Given the description of an element on the screen output the (x, y) to click on. 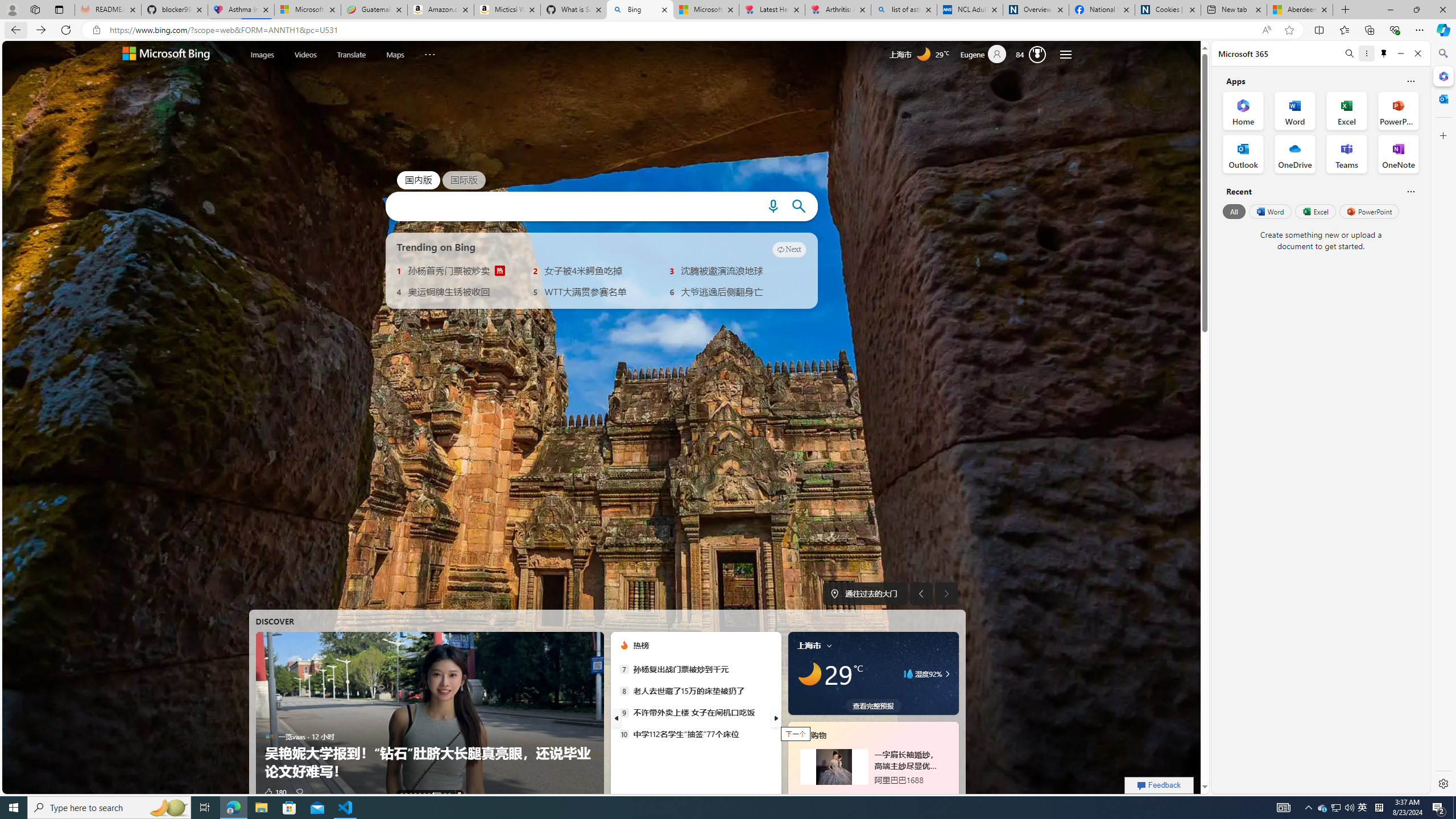
Videos (305, 53)
All (1233, 210)
tab-8 (879, 795)
OneDrive Office App (1295, 154)
More (429, 51)
AutomationID: tab-2 (410, 793)
